Given the description of an element on the screen output the (x, y) to click on. 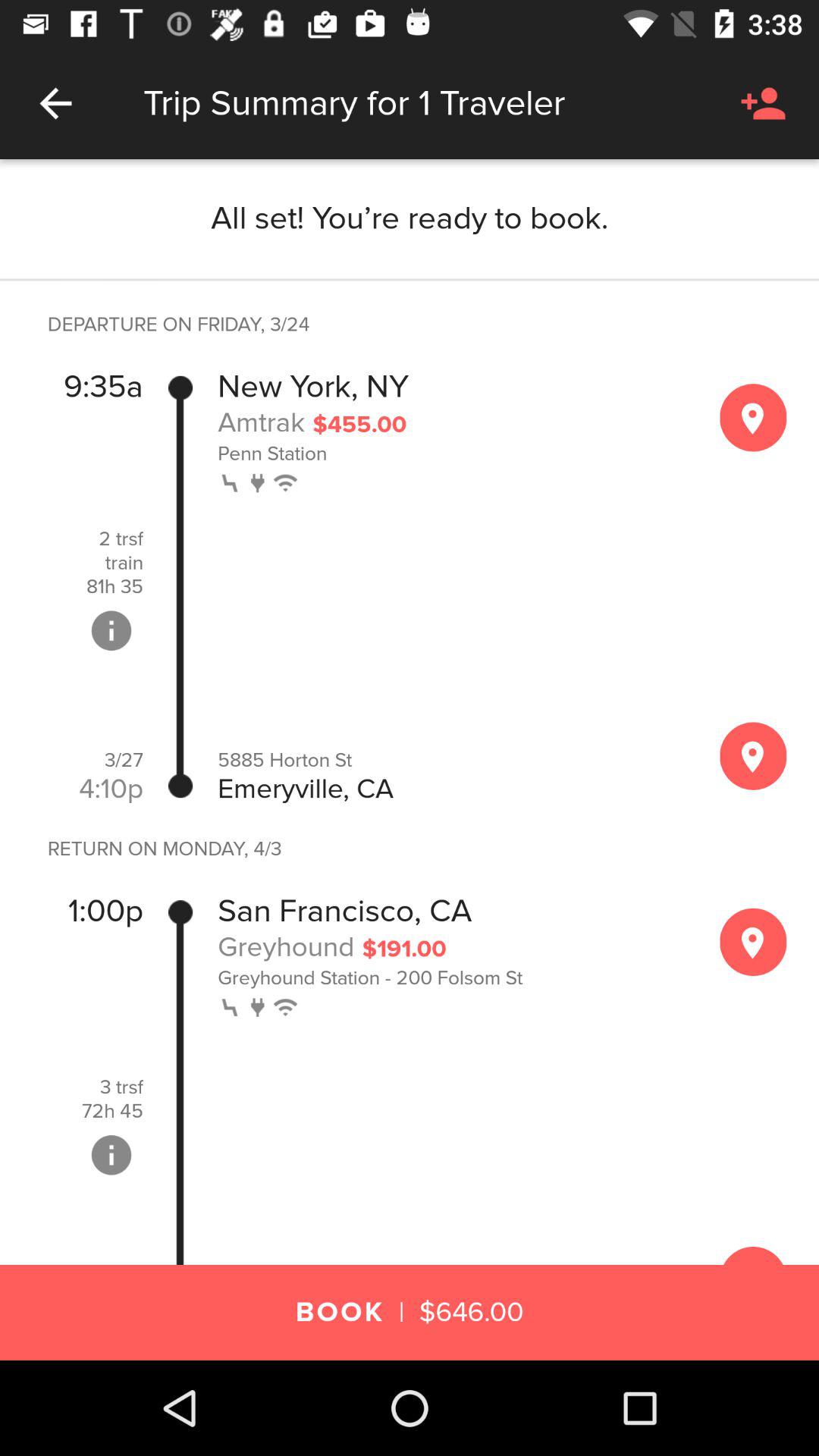
flip until return on monday icon (156, 849)
